Given the description of an element on the screen output the (x, y) to click on. 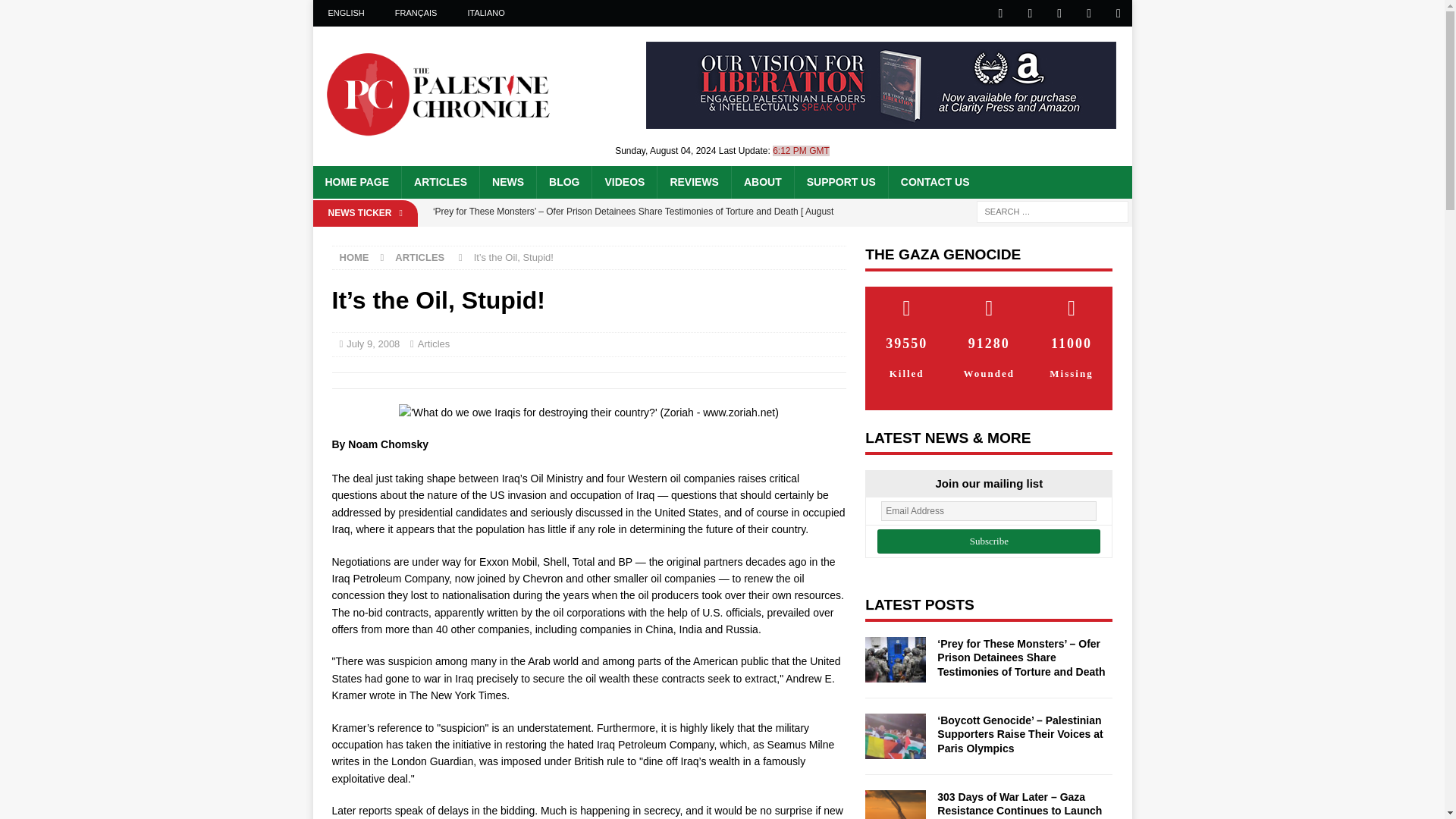
HOME PAGE (357, 182)
NEWS (507, 182)
VIDEOS (623, 182)
July 9, 2008 (372, 343)
ENGLISH (345, 13)
Articles (433, 343)
ITALIANO (485, 13)
REVIEWS (693, 182)
BLOG (563, 182)
ABOUT (761, 182)
